Given the description of an element on the screen output the (x, y) to click on. 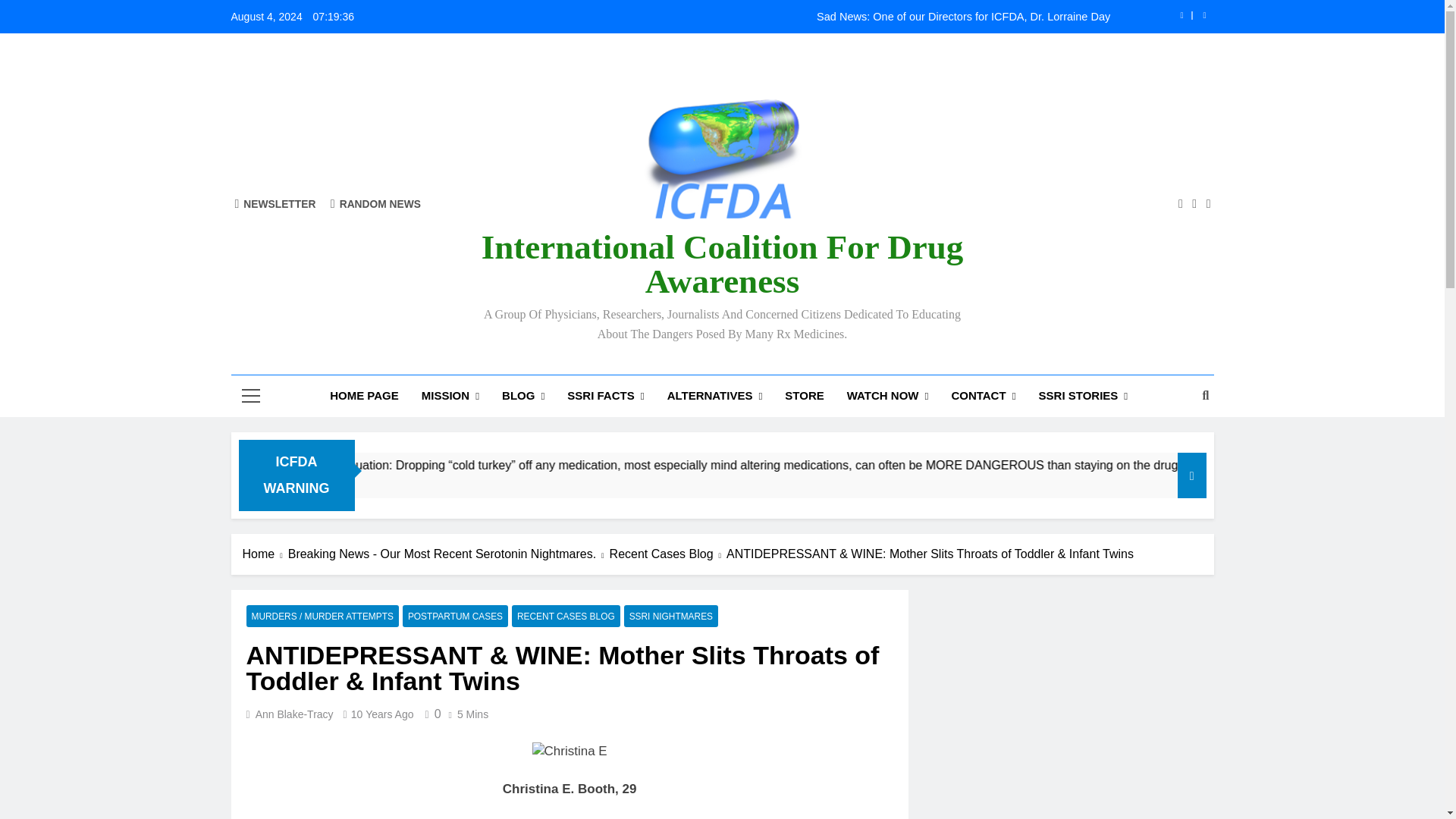
MISSION (450, 395)
Sad News: One of our Directors for ICFDA, Dr. Lorraine Day (817, 16)
NEWSLETTER (274, 203)
RANDOM NEWS (375, 203)
BLOG (523, 395)
Sad News: One of our Directors for ICFDA, Dr. Lorraine Day (817, 16)
SSRI FACTS (605, 395)
International Coalition For Drug Awareness (721, 264)
HOME PAGE (364, 395)
ALTERNATIVES (715, 395)
